Given the description of an element on the screen output the (x, y) to click on. 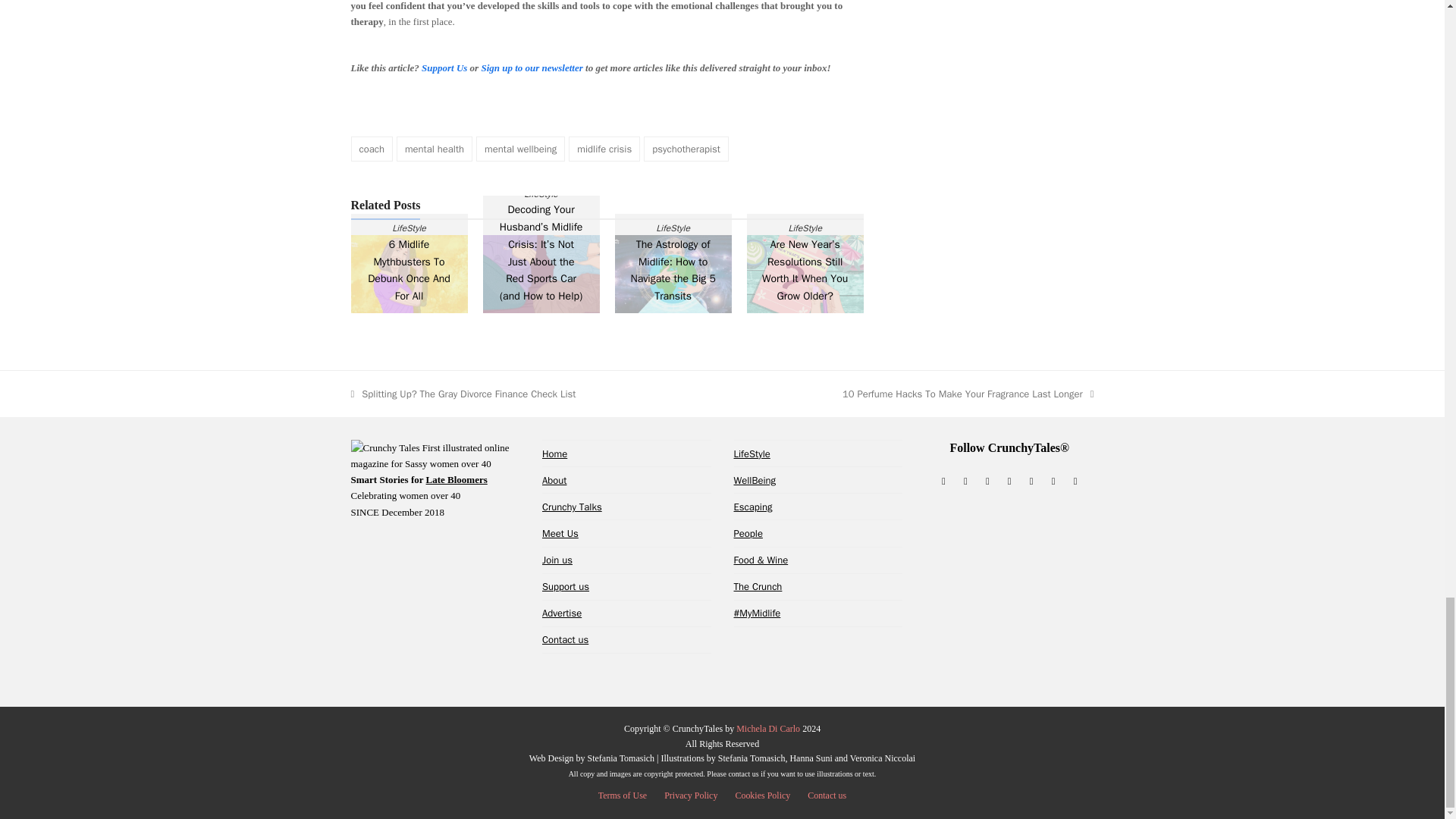
Meet the CrunchyTales Team (559, 533)
6 Midlife Mythbusters To Debunk Once And For All (408, 273)
Support Us (444, 67)
The Astrology of Midlife: How to Navigate the Big 5 Transits (673, 273)
A digital illustrated magazine for women over 40 (554, 453)
Sign up to our newsletter (531, 67)
